Given the description of an element on the screen output the (x, y) to click on. 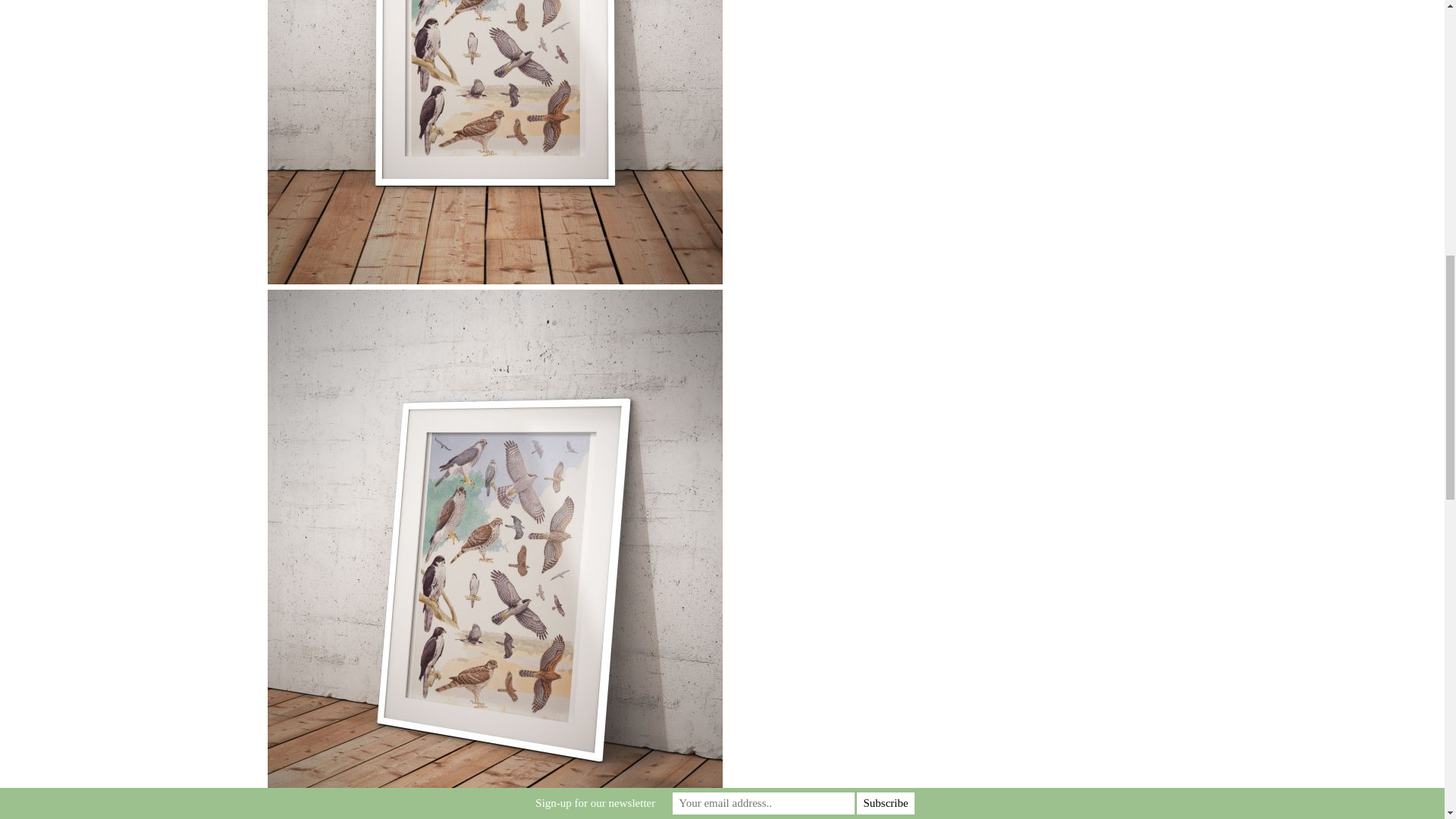
Poster mock-up (494, 142)
